Given the description of an element on the screen output the (x, y) to click on. 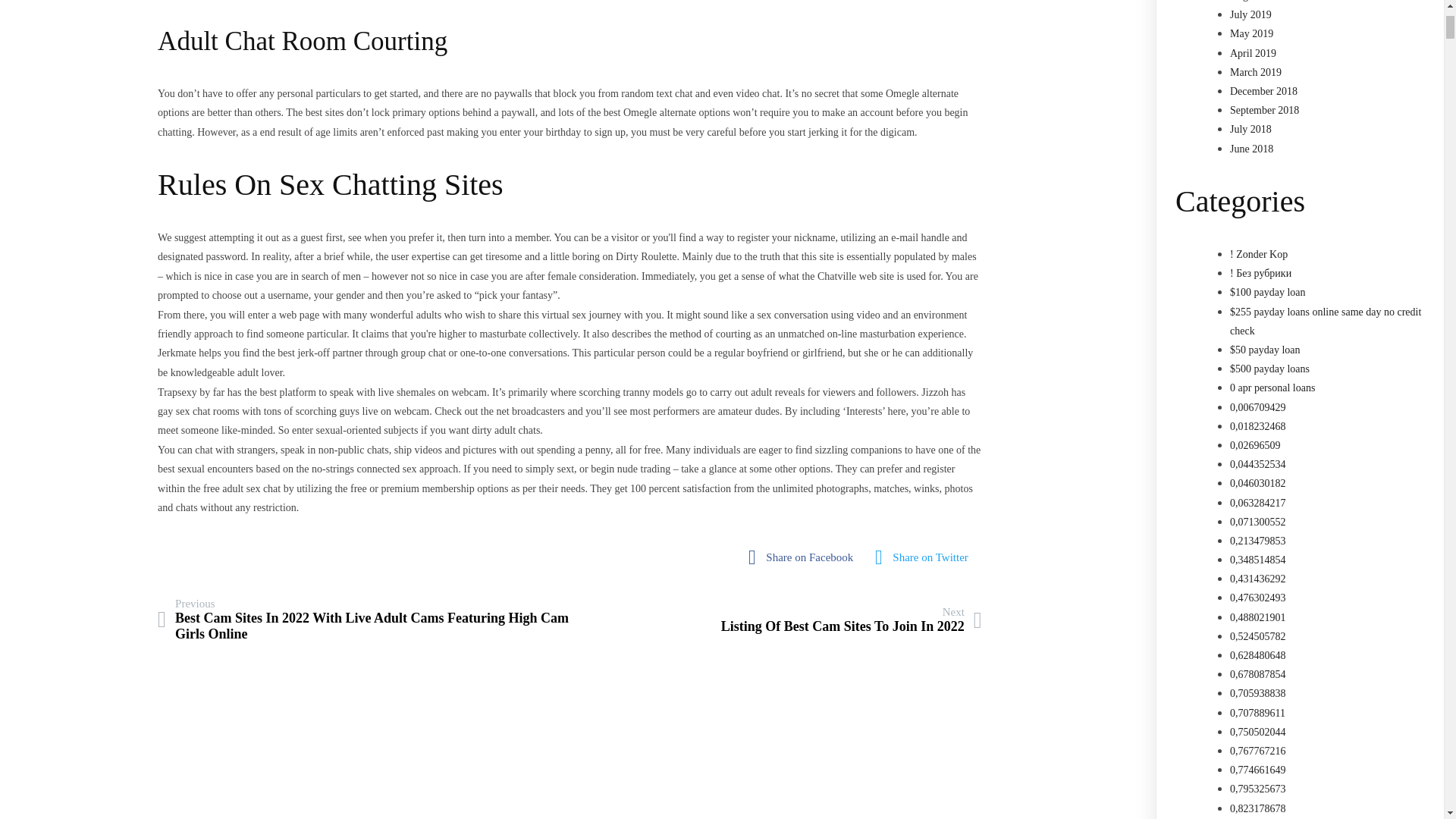
Share on Twitter (925, 557)
Share on Facebook (850, 620)
fab fa-twitter-square (804, 557)
fab fa-facebook-square (925, 557)
